Given the description of an element on the screen output the (x, y) to click on. 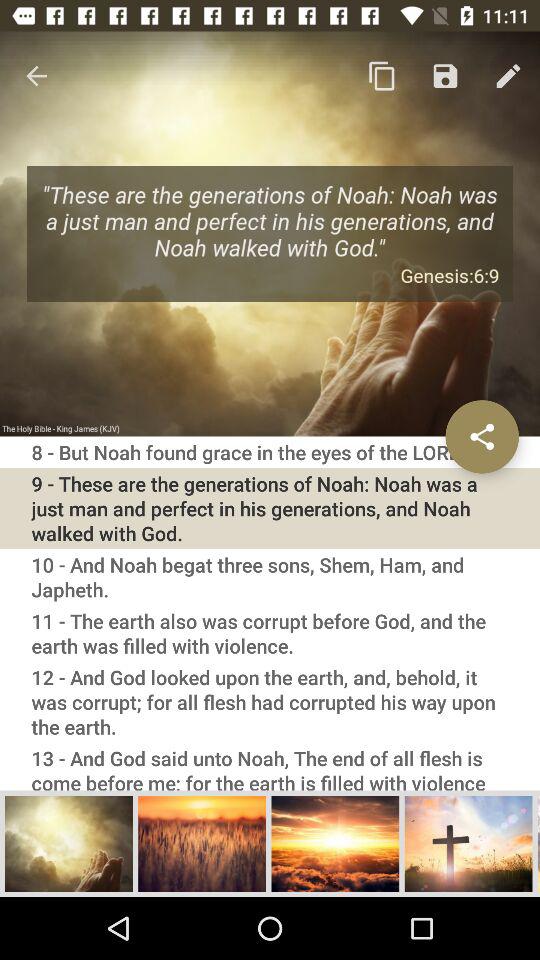
tap item at the bottom left corner (69, 843)
